Given the description of an element on the screen output the (x, y) to click on. 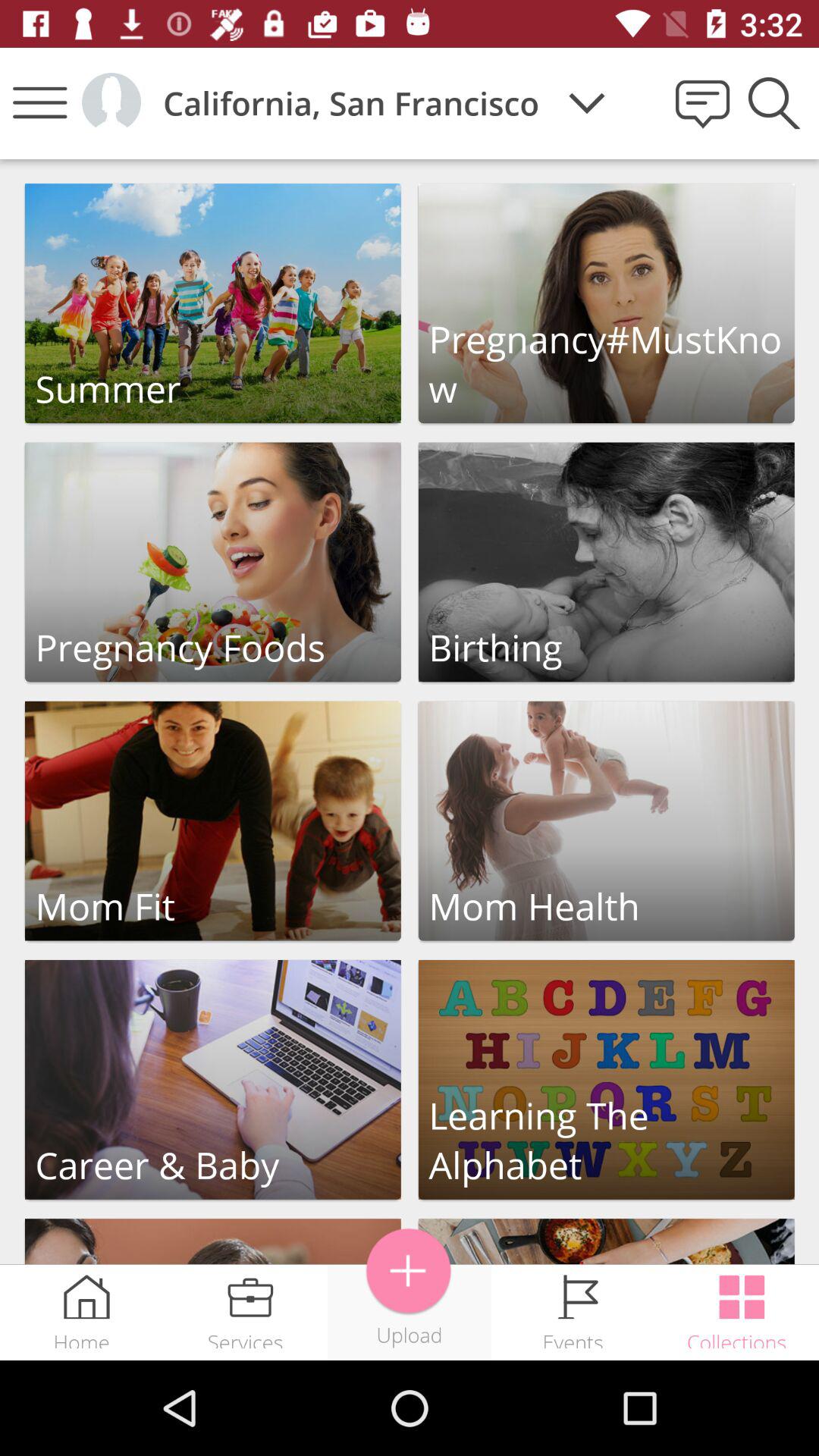
learn about birthing (606, 561)
